Given the description of an element on the screen output the (x, y) to click on. 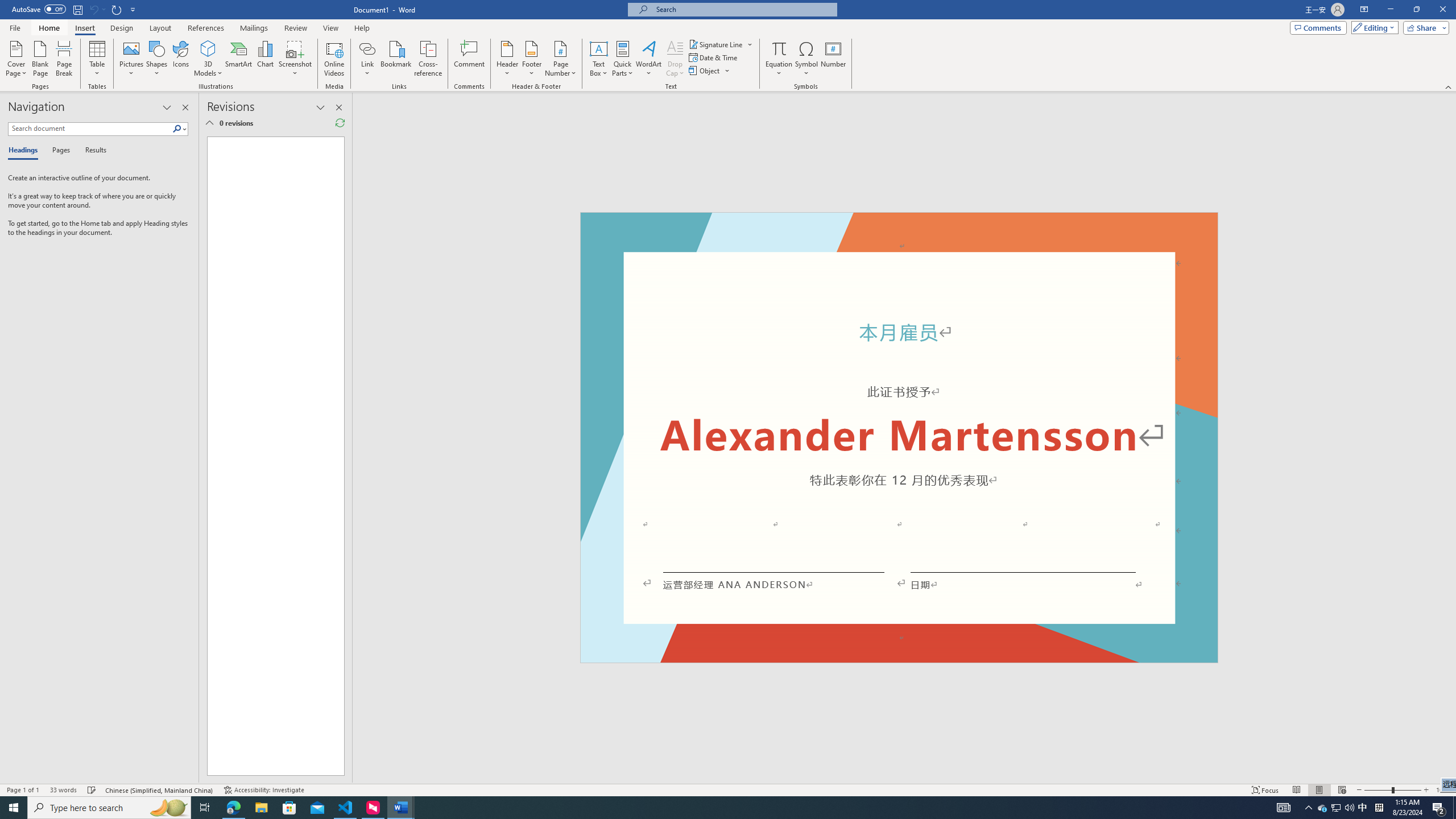
Number... (833, 58)
Text Box (598, 58)
Pictures (131, 58)
Header -Section 1- (898, 225)
Symbol (806, 58)
Drop Cap (674, 58)
Comment (469, 58)
